Given the description of an element on the screen output the (x, y) to click on. 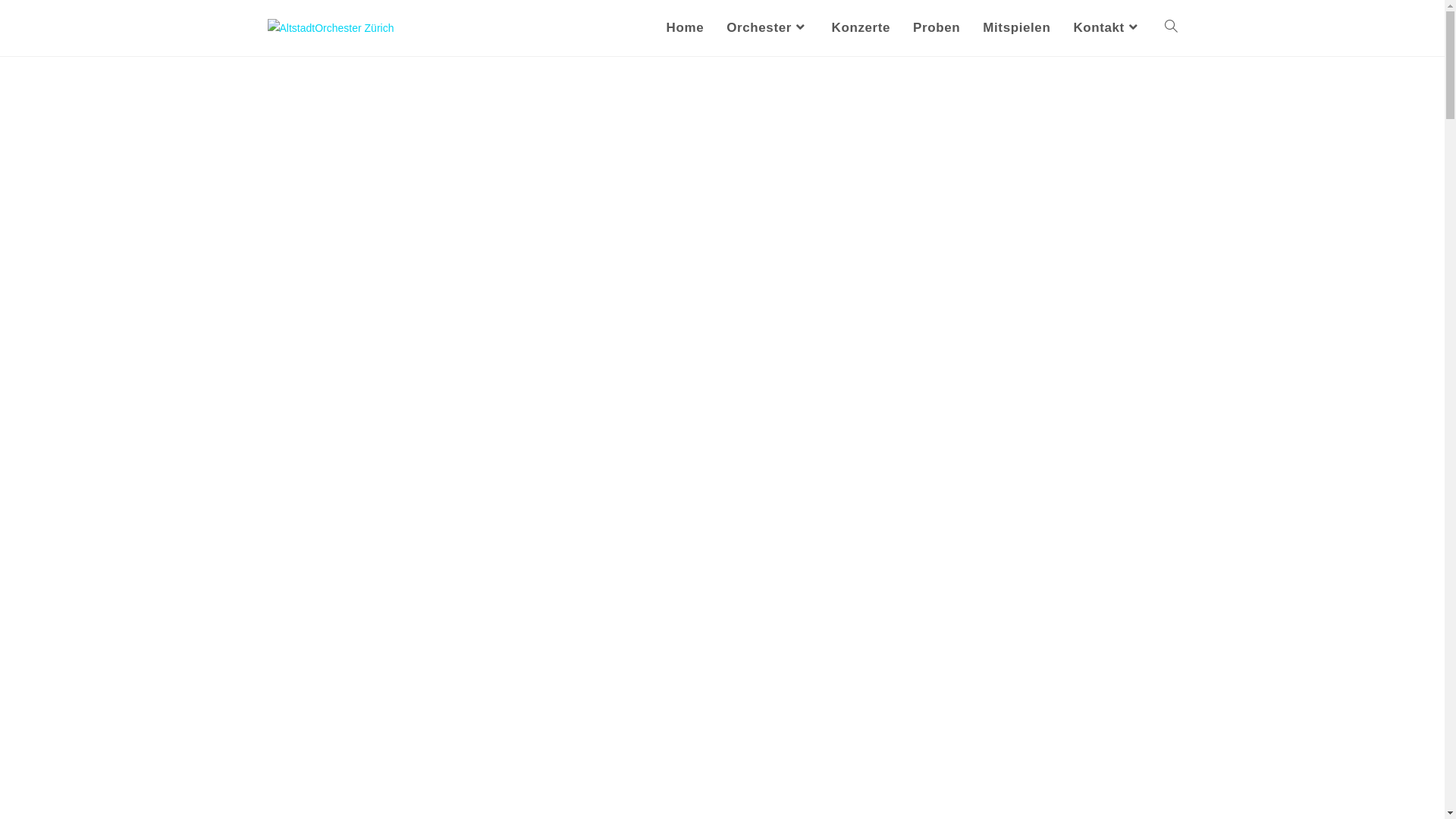
Mitspielen Element type: text (1016, 28)
Kontakt Element type: text (1106, 28)
Konzerte Element type: text (861, 28)
Orchester Element type: text (767, 28)
Proben Element type: text (936, 28)
Home Element type: text (685, 28)
